Given the description of an element on the screen output the (x, y) to click on. 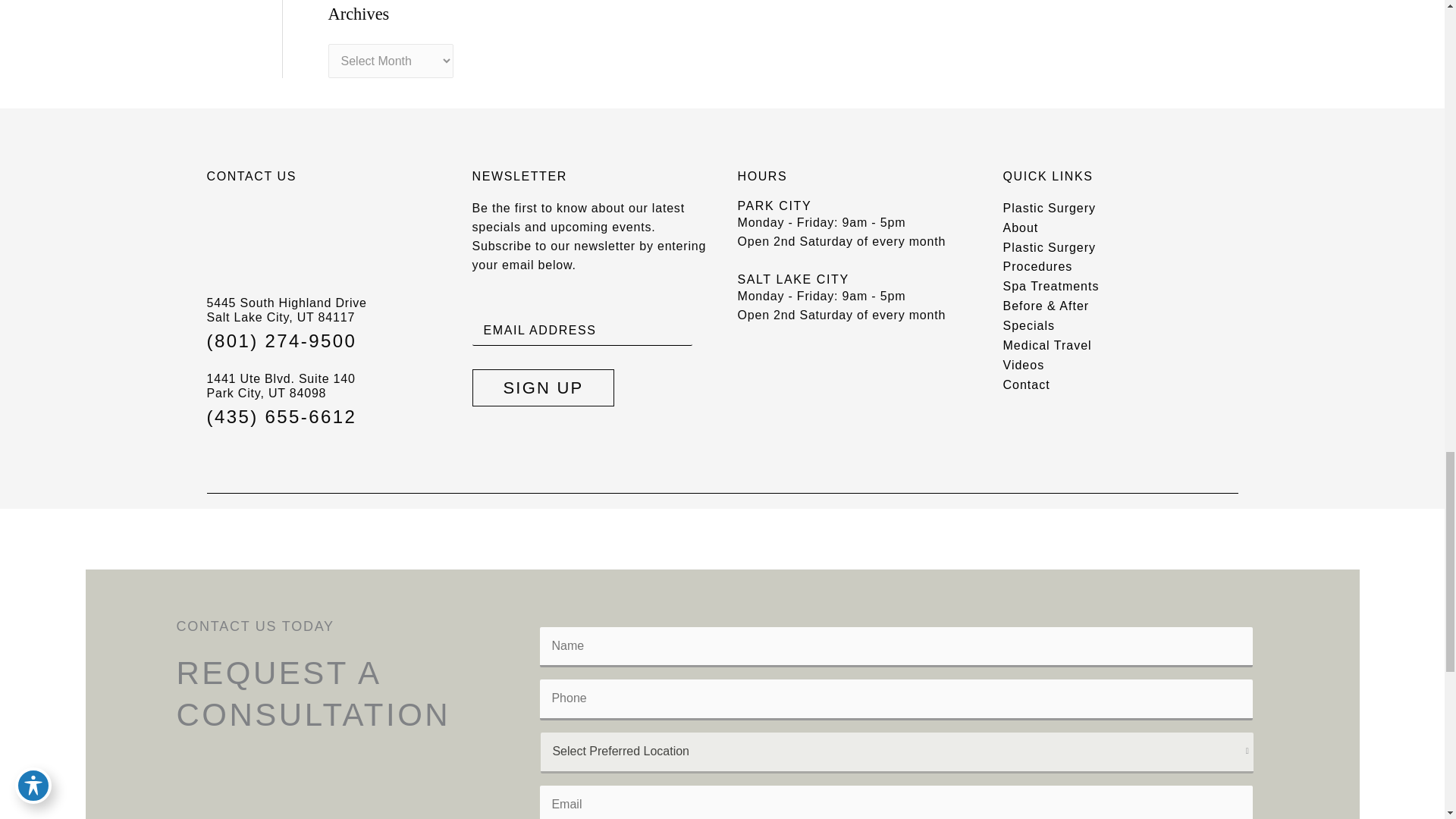
SIGN UP (542, 387)
salzlogorefresh color 02 (263, 241)
